Given the description of an element on the screen output the (x, y) to click on. 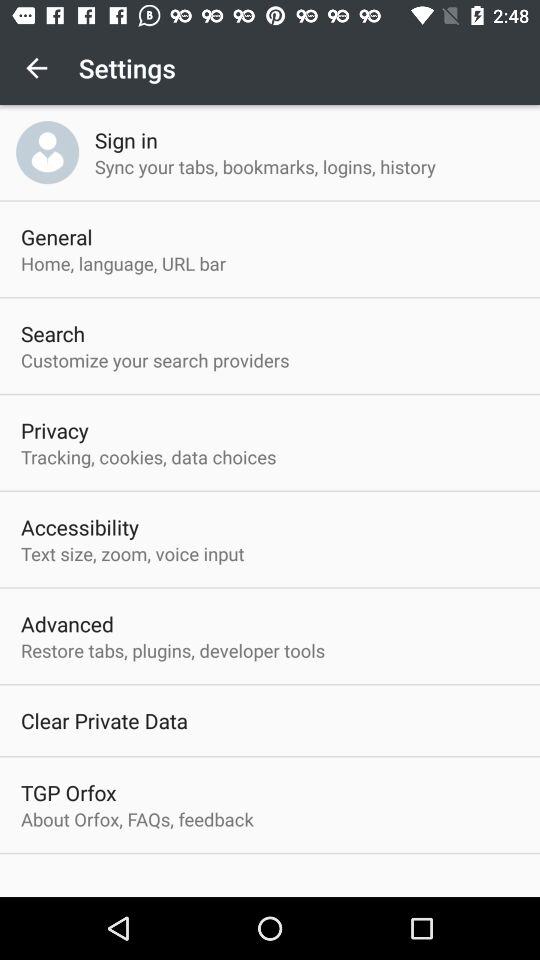
select item above general (47, 152)
